Given the description of an element on the screen output the (x, y) to click on. 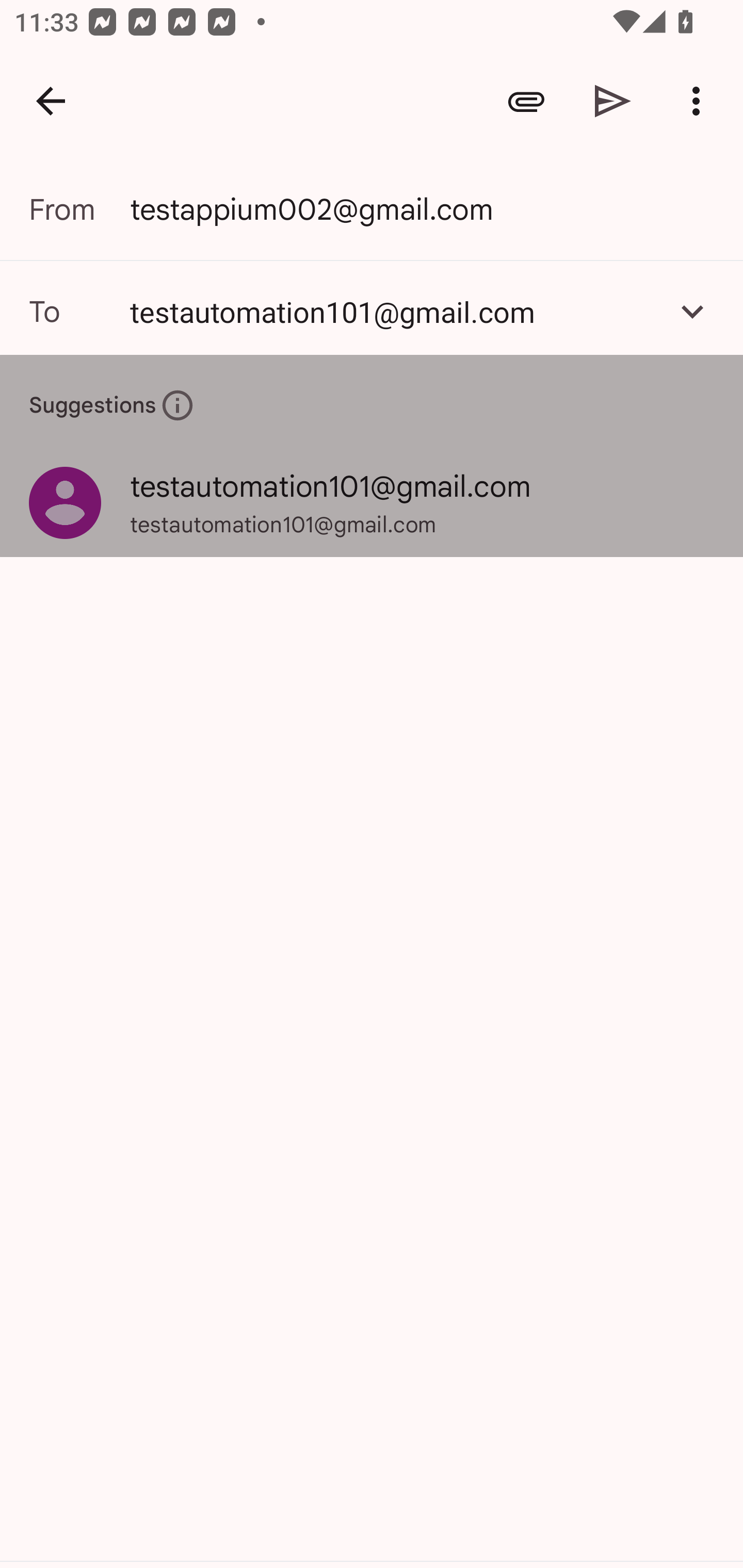
Navigate up (50, 101)
Attach file (525, 101)
Send (612, 101)
More options (699, 101)
From (79, 209)
Add Cc/Bcc (692, 311)
testautomation101@gmail.com (371, 311)
testautomation101@gmail.com (393, 311)
